Given the description of an element on the screen output the (x, y) to click on. 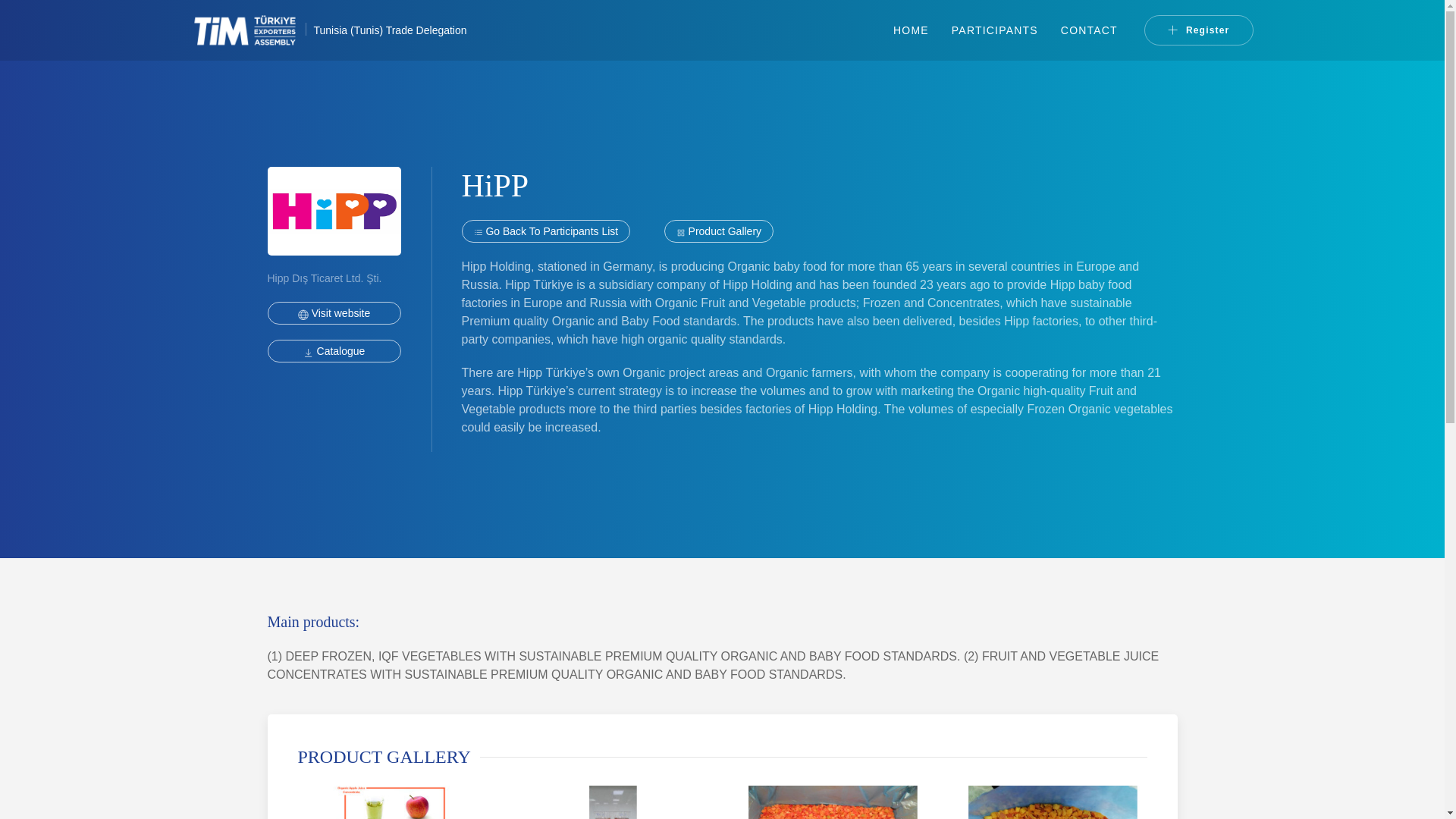
Contact (1089, 30)
CONTACT (1089, 30)
TIM Delegations (911, 30)
YE3a8cCkgWwZB2oUmRWyV8KeXjgRiX37Ob1BBW98 (333, 350)
Go Back To Participants List (545, 231)
Participants (994, 30)
PARTICIPANTS (994, 30)
TIM Delegations (251, 30)
Catalogue (333, 350)
Visit website (333, 313)
HOME (911, 30)
Register (1198, 30)
Product Gallery (718, 231)
